Given the description of an element on the screen output the (x, y) to click on. 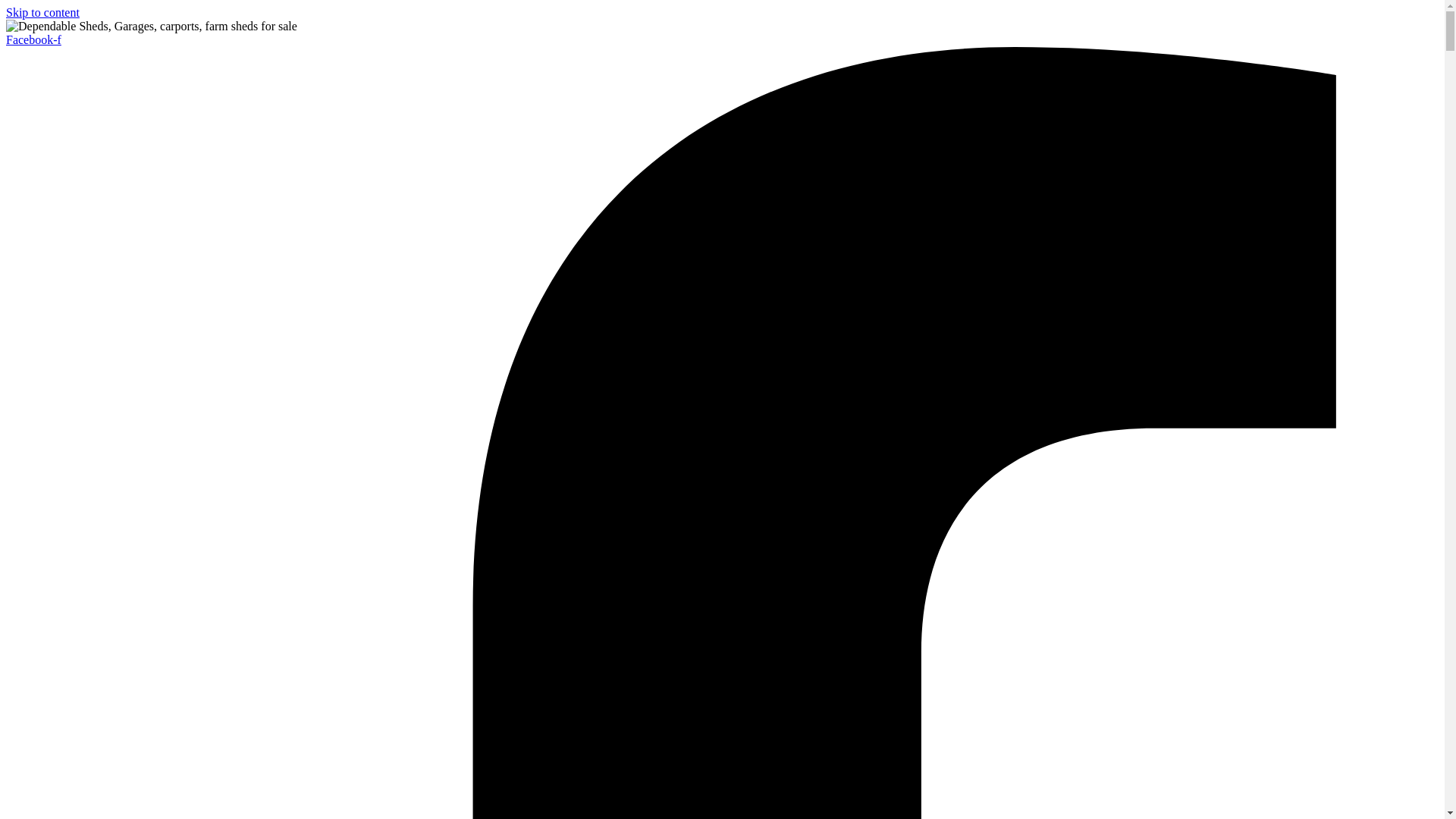
Skip to content Element type: text (42, 12)
